Given the description of an element on the screen output the (x, y) to click on. 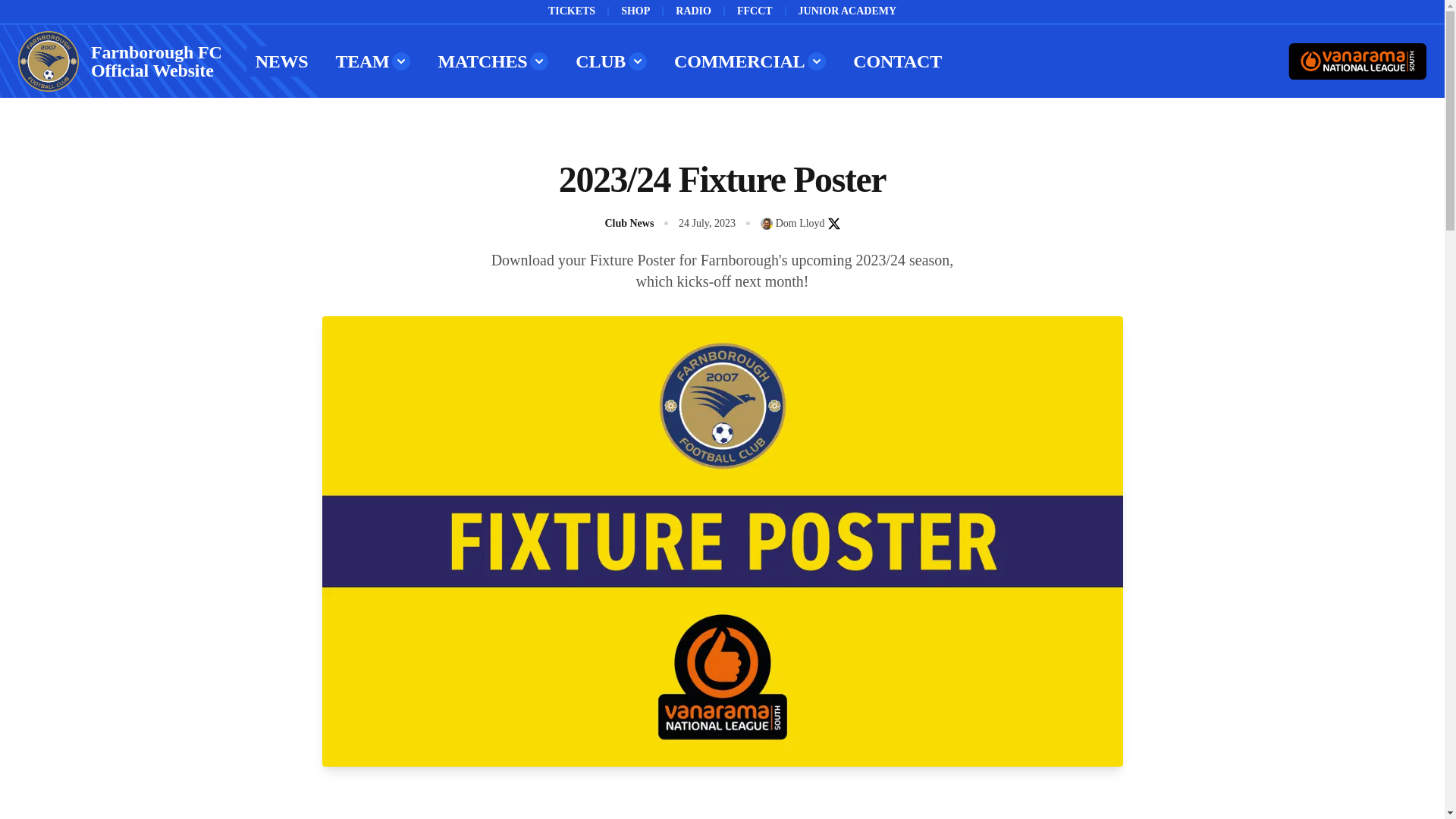
JUNIOR ACADEMY (846, 10)
SHOP (635, 10)
RADIO (693, 10)
TICKETS (571, 10)
FFCCT (754, 10)
